Given the description of an element on the screen output the (x, y) to click on. 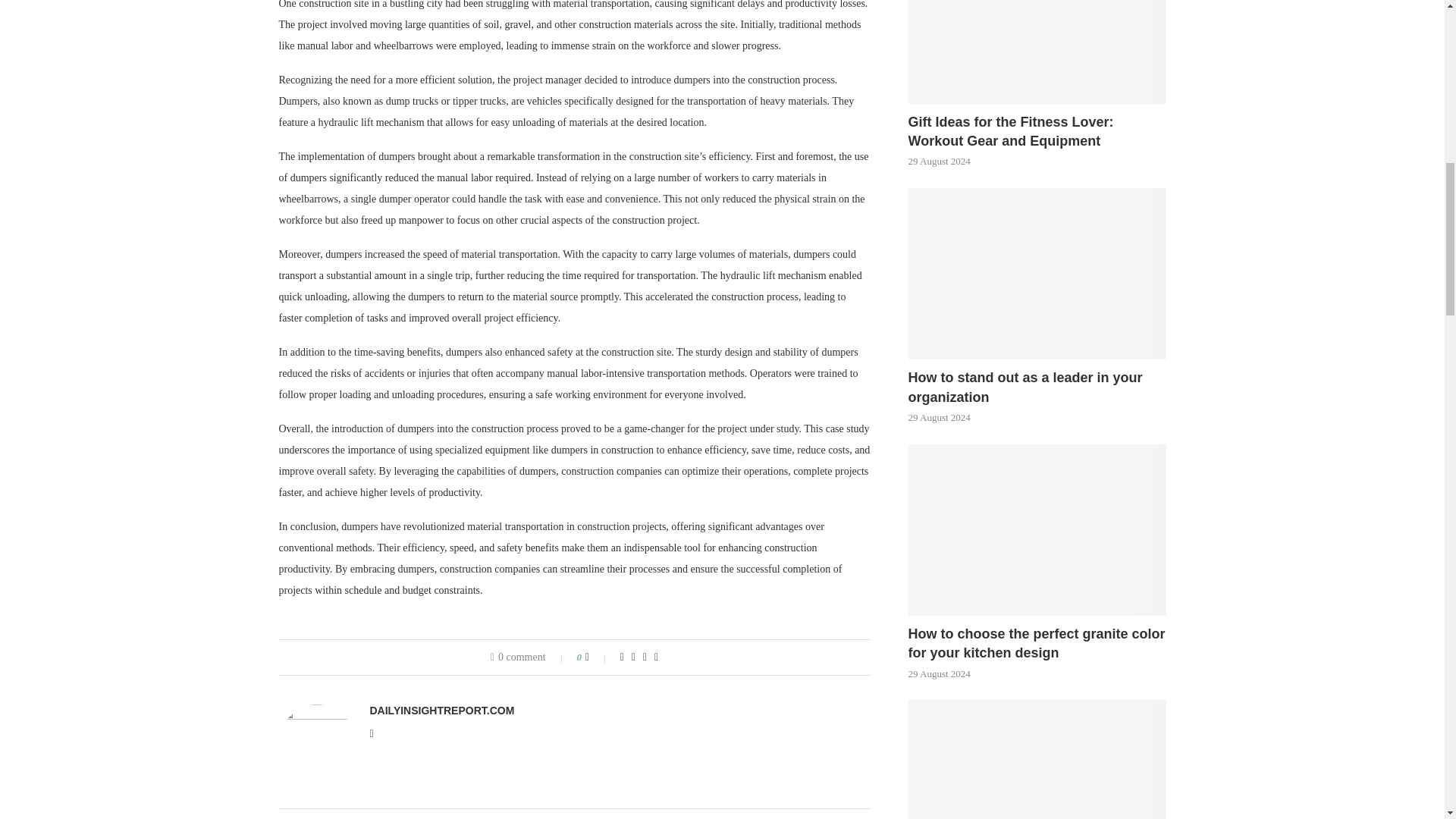
Like (597, 657)
Author dailyinsightreport.com (442, 710)
DAILYINSIGHTREPORT.COM (442, 710)
